Given the description of an element on the screen output the (x, y) to click on. 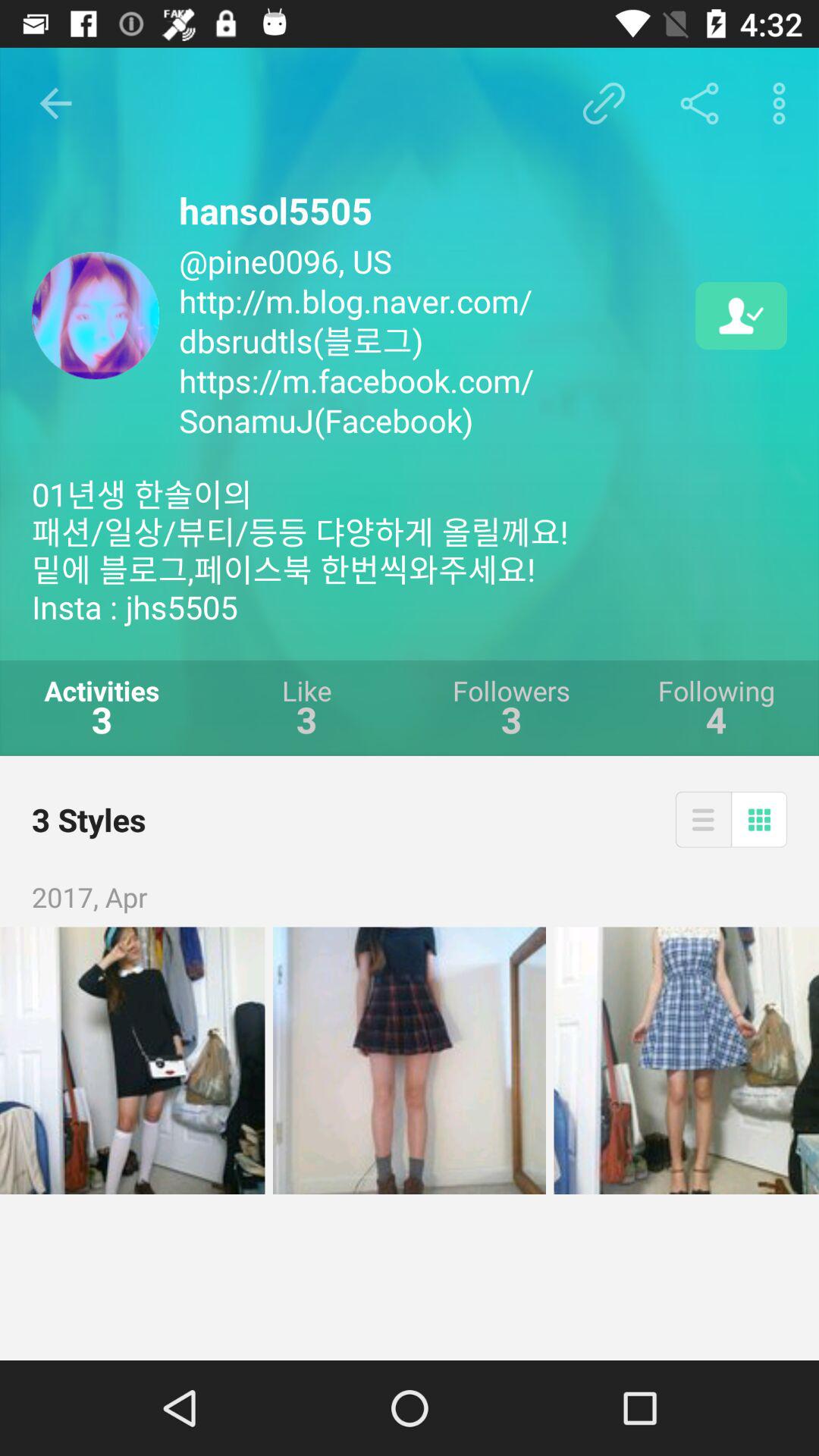
switch to grid view (759, 819)
